Given the description of an element on the screen output the (x, y) to click on. 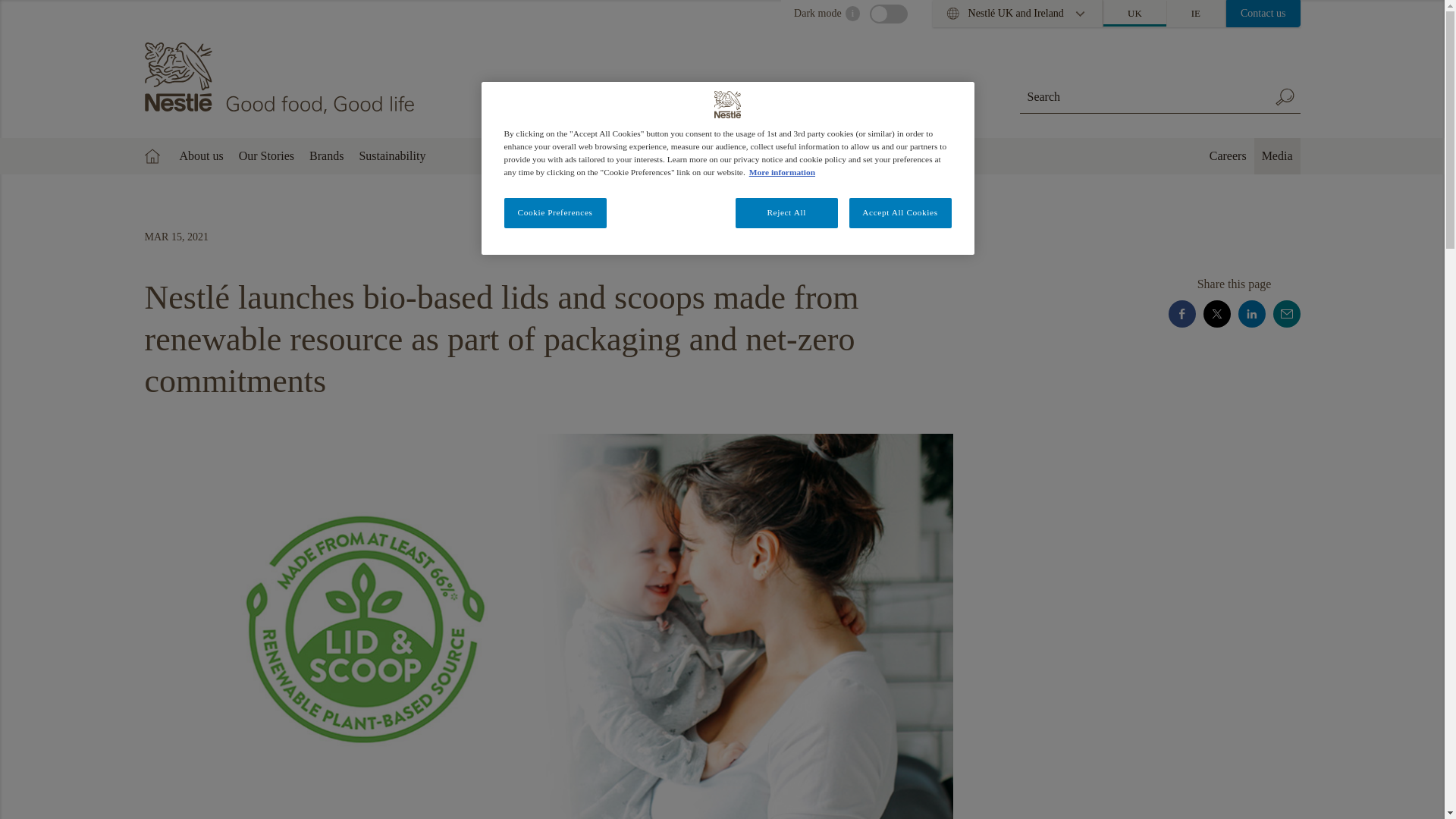
Home (281, 77)
